Given the description of an element on the screen output the (x, y) to click on. 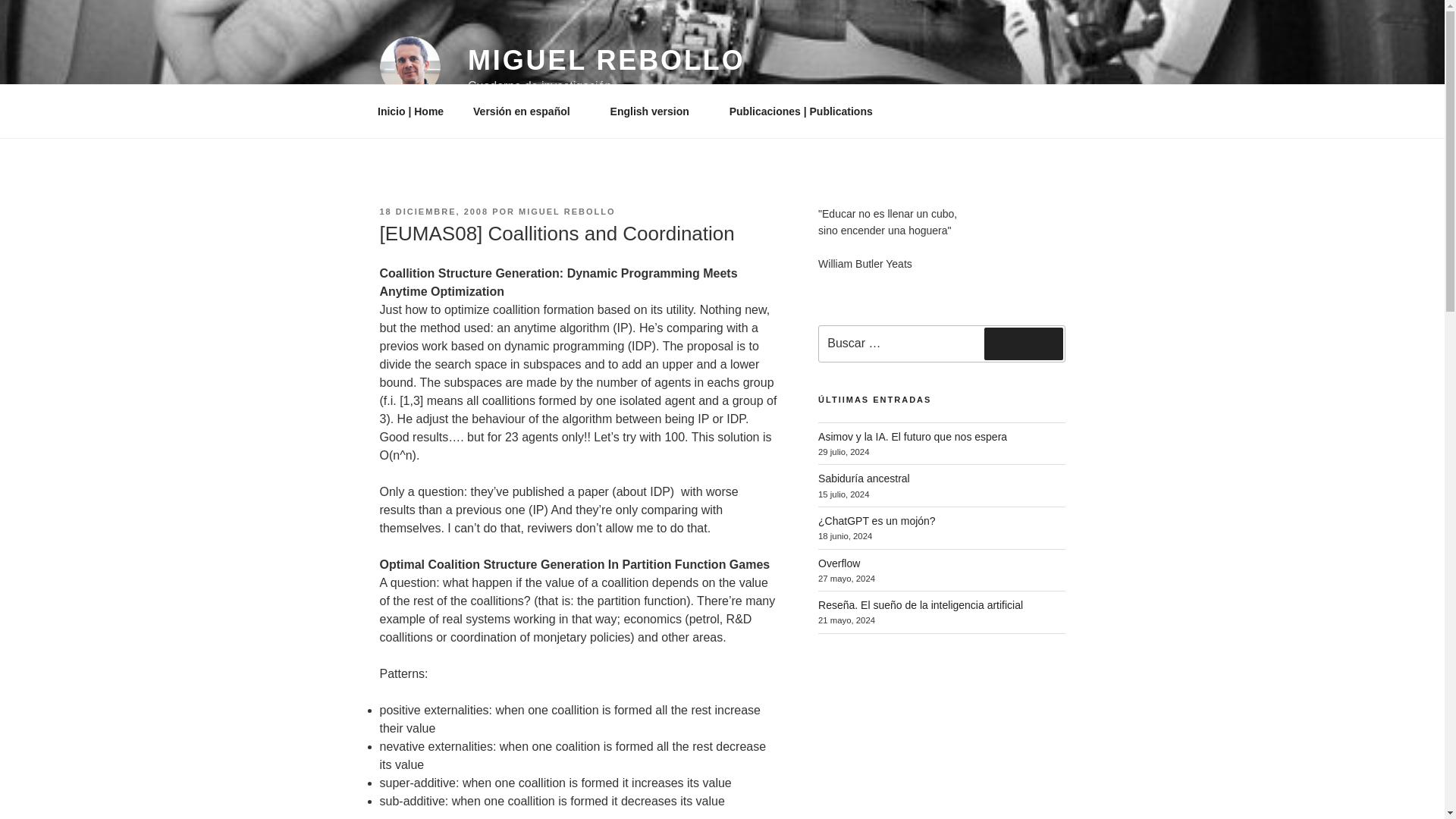
18 DICIEMBRE, 2008 (432, 211)
Overflow (839, 563)
English version (654, 110)
MIGUEL REBOLLO (606, 60)
Asimov y la IA. El futuro que nos espera (912, 436)
MIGUEL REBOLLO (566, 211)
Buscar (1023, 343)
